Given the description of an element on the screen output the (x, y) to click on. 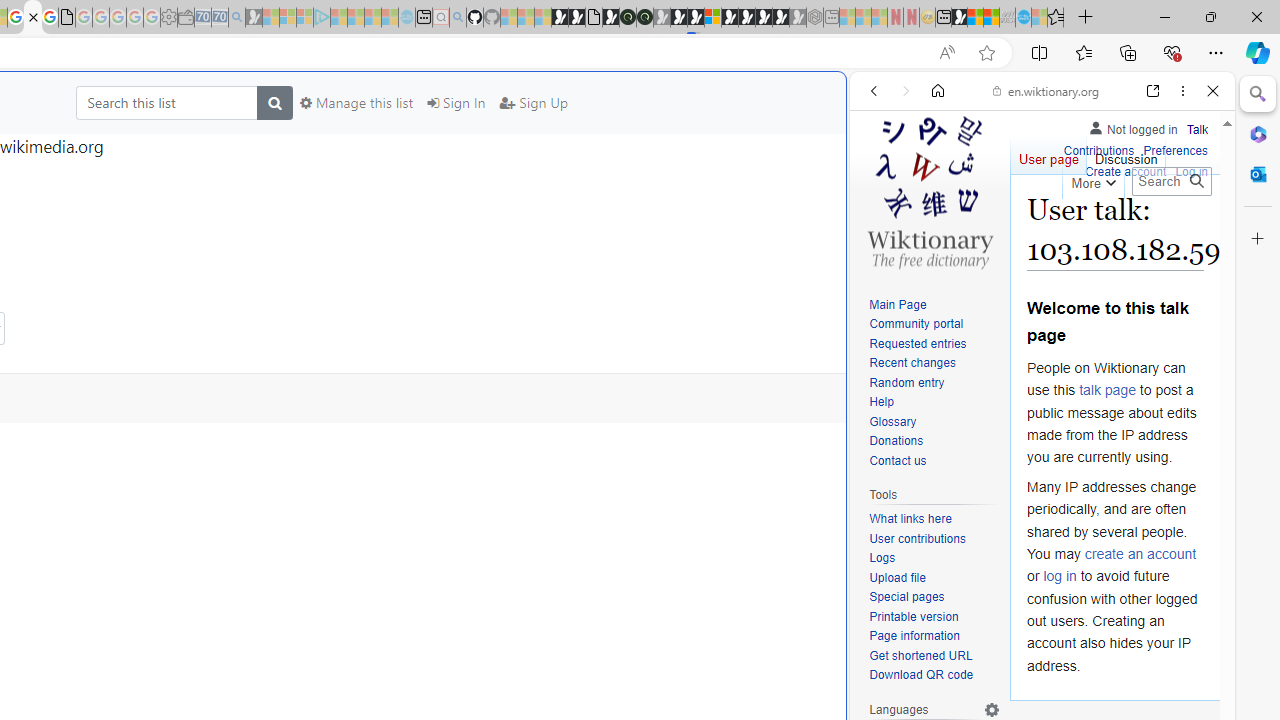
en.wiktionary.org (1046, 90)
Search Filter, Search Tools (1093, 228)
Special pages (934, 597)
